Given the description of an element on the screen output the (x, y) to click on. 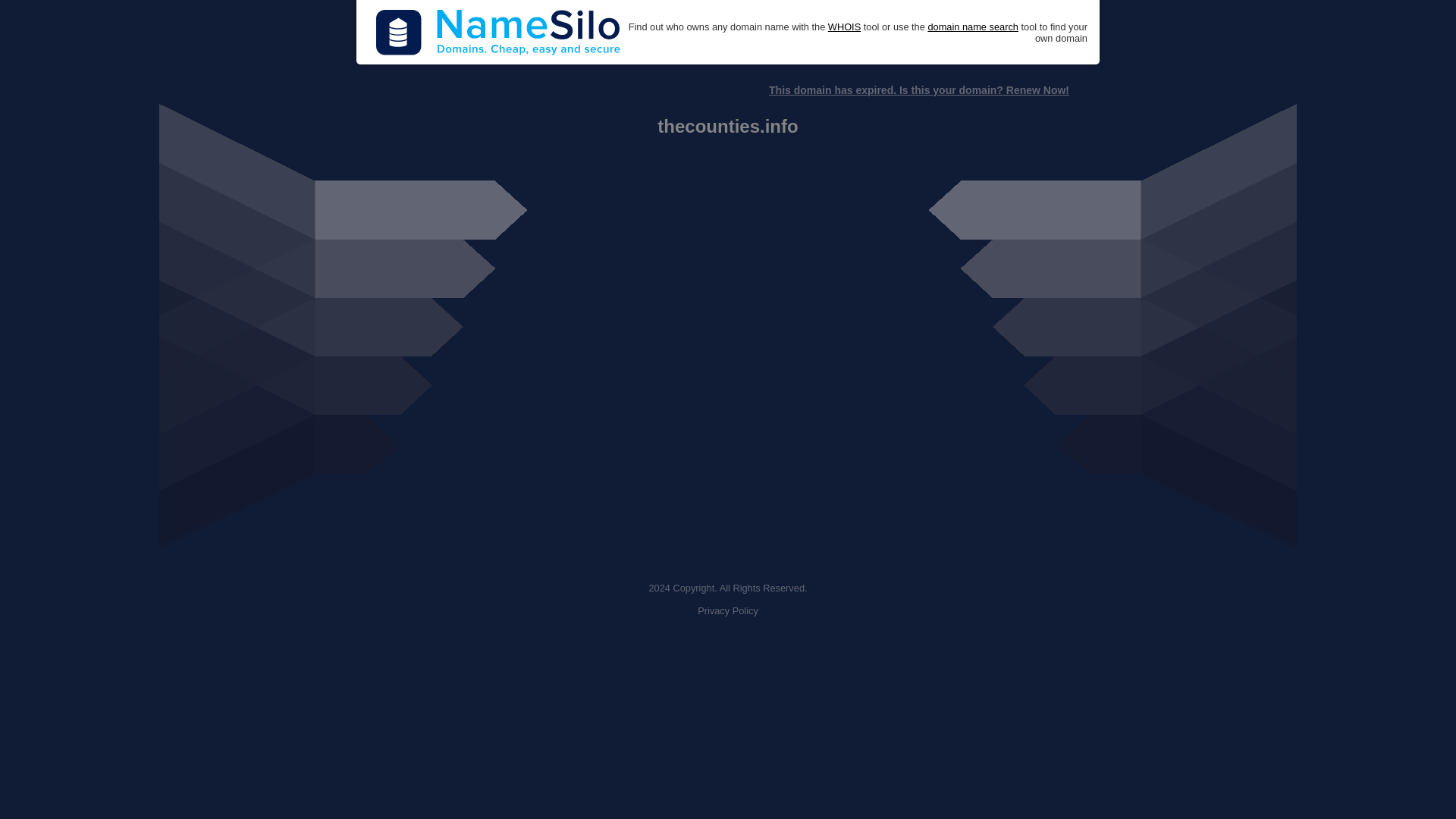
Privacy Policy (727, 610)
WHOIS (844, 26)
domain name search (972, 26)
This domain has expired. Is this your domain? Renew Now! (918, 90)
